Given the description of an element on the screen output the (x, y) to click on. 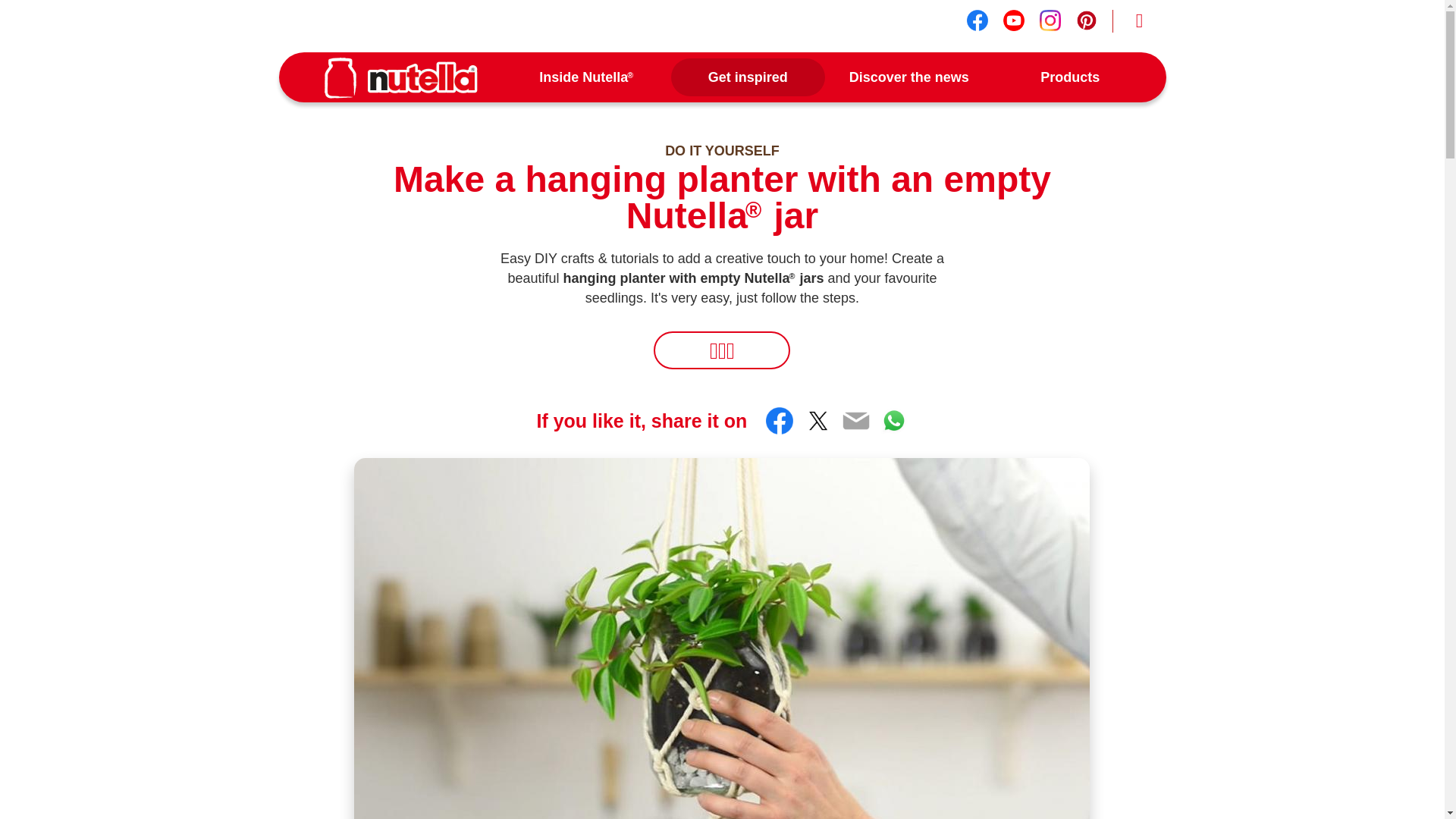
Get inspired (748, 77)
Follow us on instagram (1049, 20)
Discover the news (909, 77)
Products (1069, 77)
Follow us on instagram (1049, 20)
Facebook (779, 420)
Follow us on facebook (976, 20)
Follow us on pinterest (1085, 20)
Follow us on youtube (1013, 20)
Twitter (818, 420)
